Given the description of an element on the screen output the (x, y) to click on. 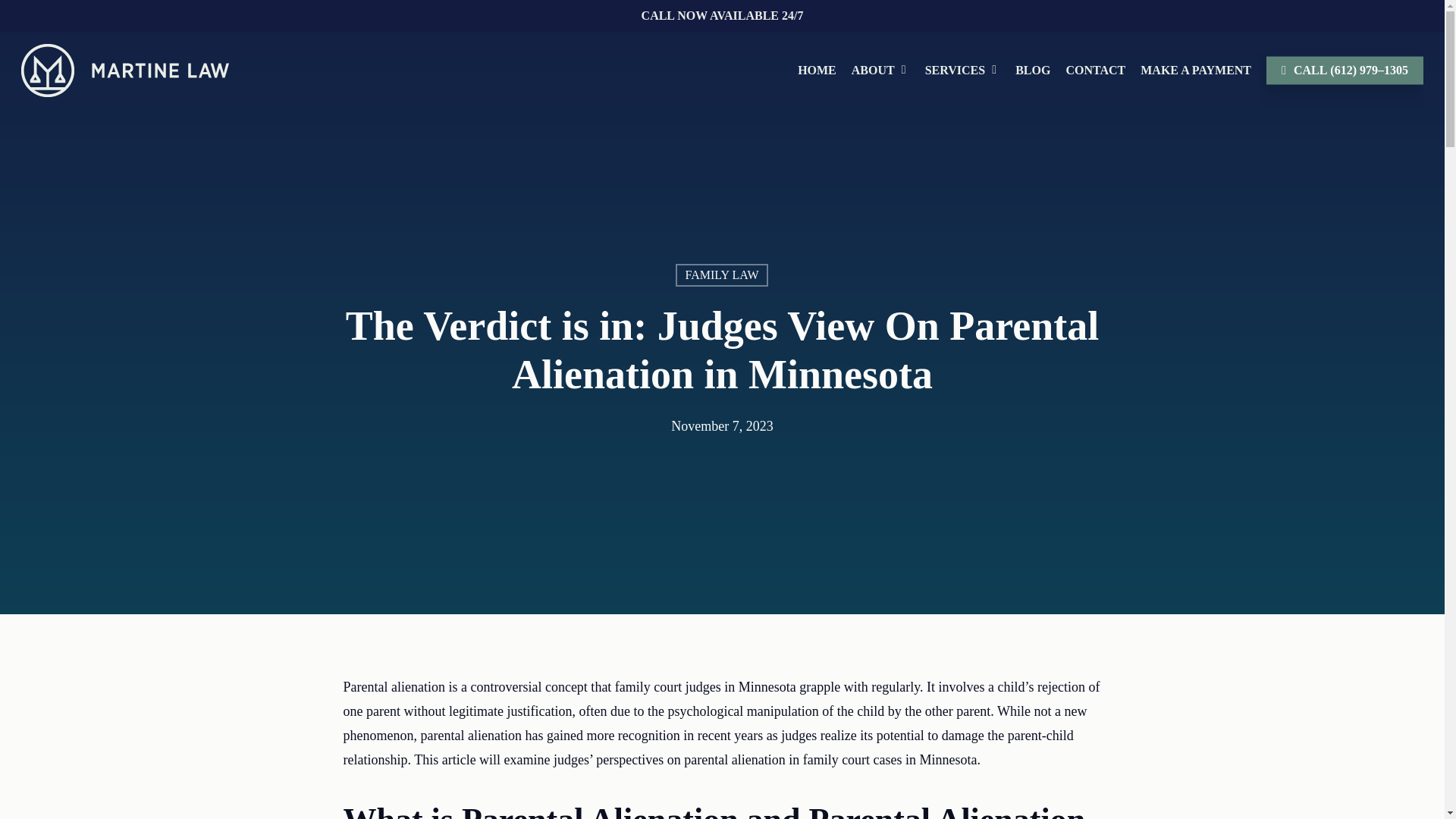
BLOG (1032, 70)
HOME (817, 70)
CONTACT (1095, 70)
FAMILY LAW (721, 274)
ABOUT (880, 70)
SERVICES (962, 70)
MAKE A PAYMENT (1195, 70)
